Given the description of an element on the screen output the (x, y) to click on. 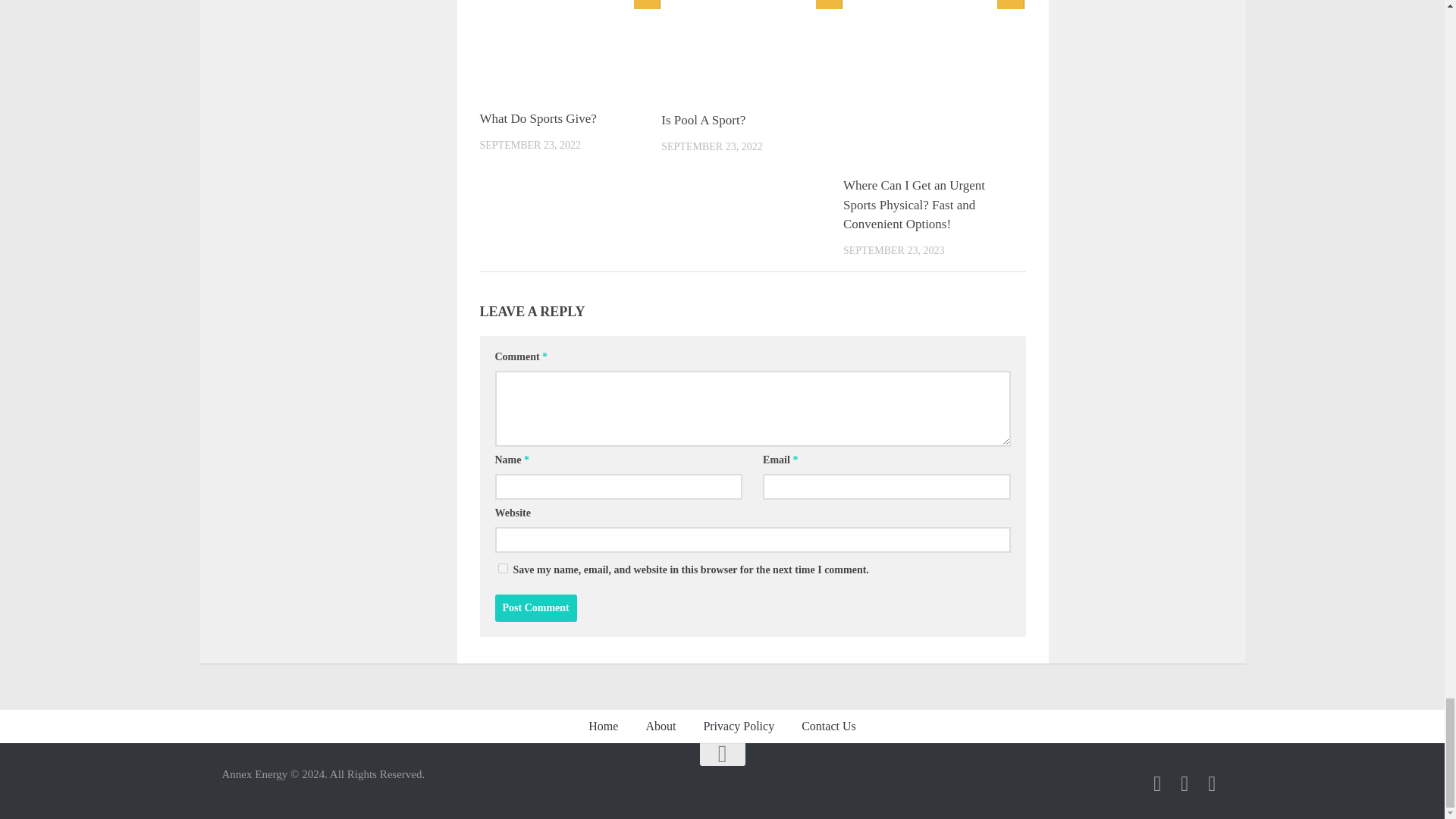
Post Comment (535, 607)
yes (501, 568)
